Given the description of an element on the screen output the (x, y) to click on. 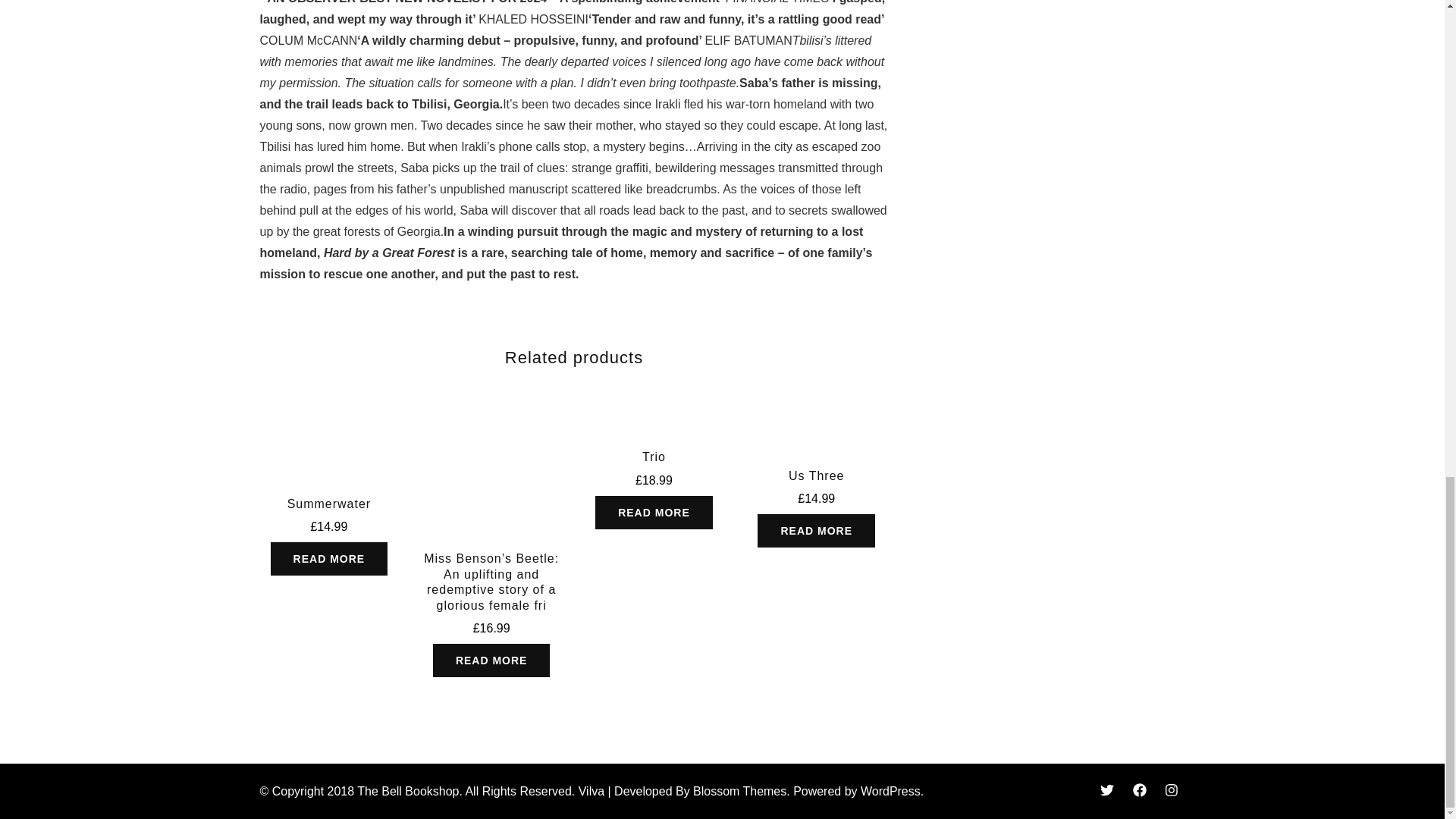
READ MORE (329, 558)
READ MORE (491, 660)
READ MORE (654, 512)
READ MORE (816, 530)
